Given the description of an element on the screen output the (x, y) to click on. 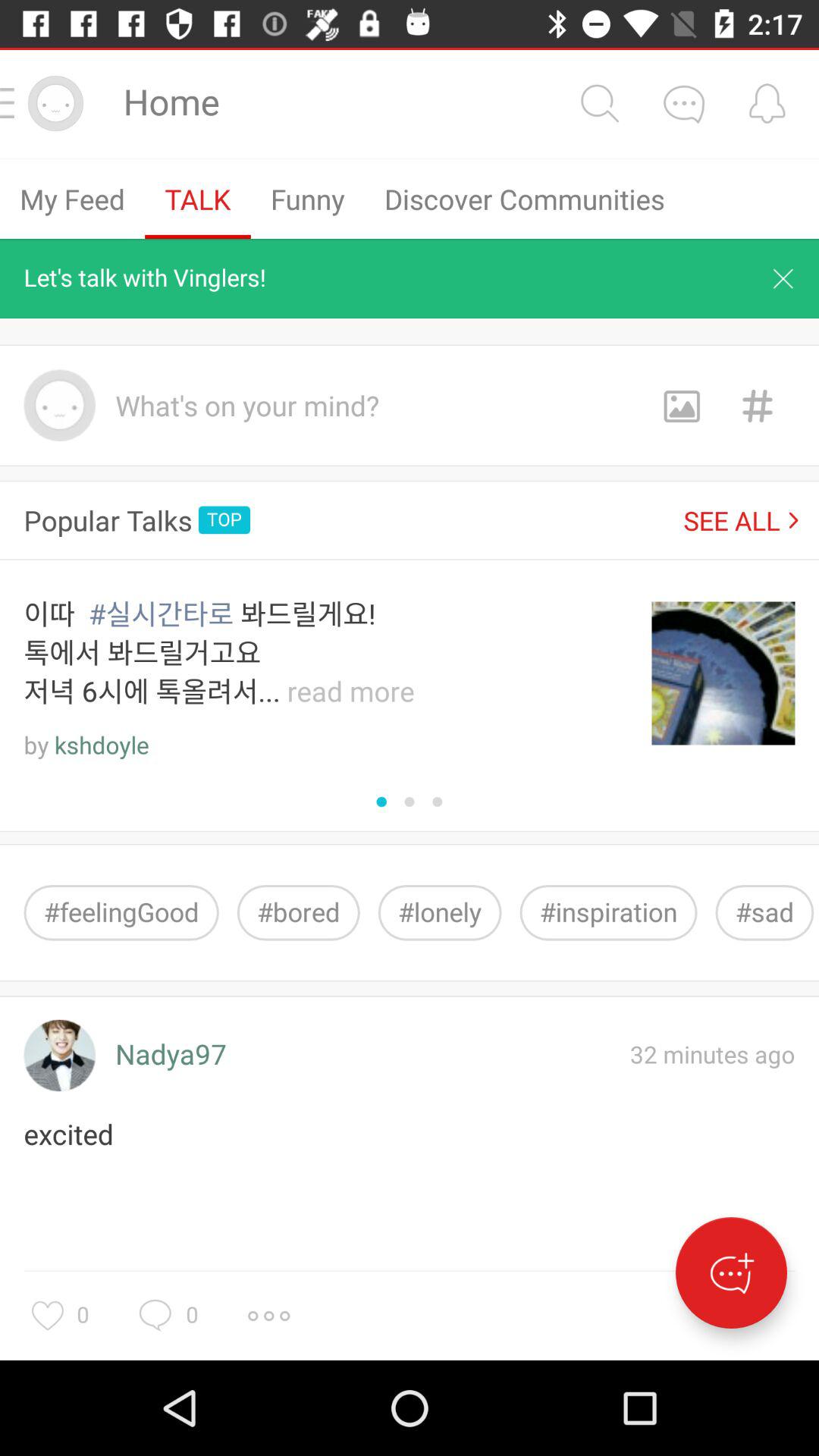
turn on the #lonely item (439, 912)
